Given the description of an element on the screen output the (x, y) to click on. 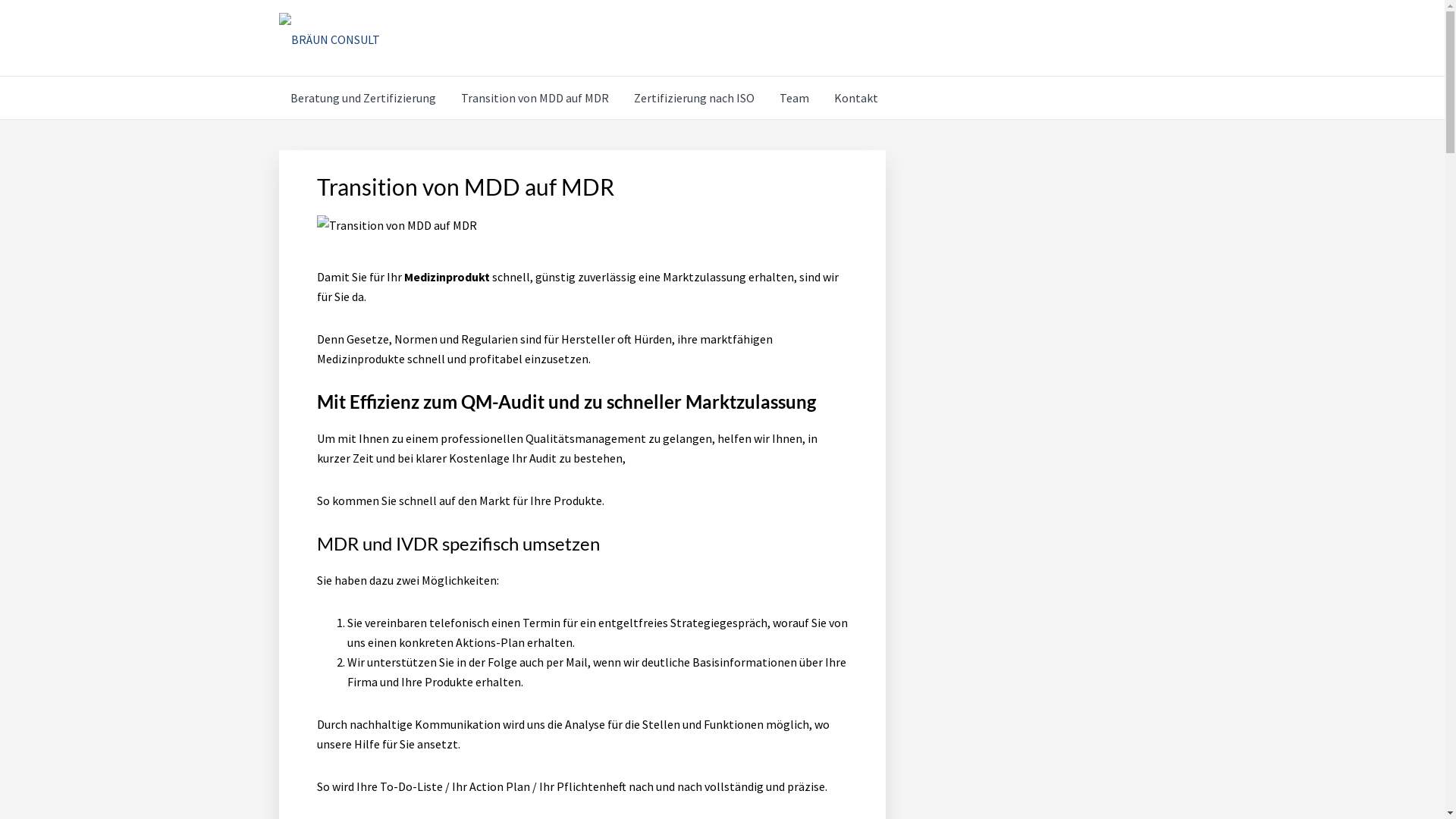
Team Element type: text (793, 97)
Kontakt Element type: text (855, 97)
Zertifizierung nach ISO Element type: text (693, 97)
Transition von MDD auf MDR Element type: text (533, 97)
Beratung und Zertifizierung Element type: text (363, 97)
Skip to main content Element type: text (0, 0)
